Given the description of an element on the screen output the (x, y) to click on. 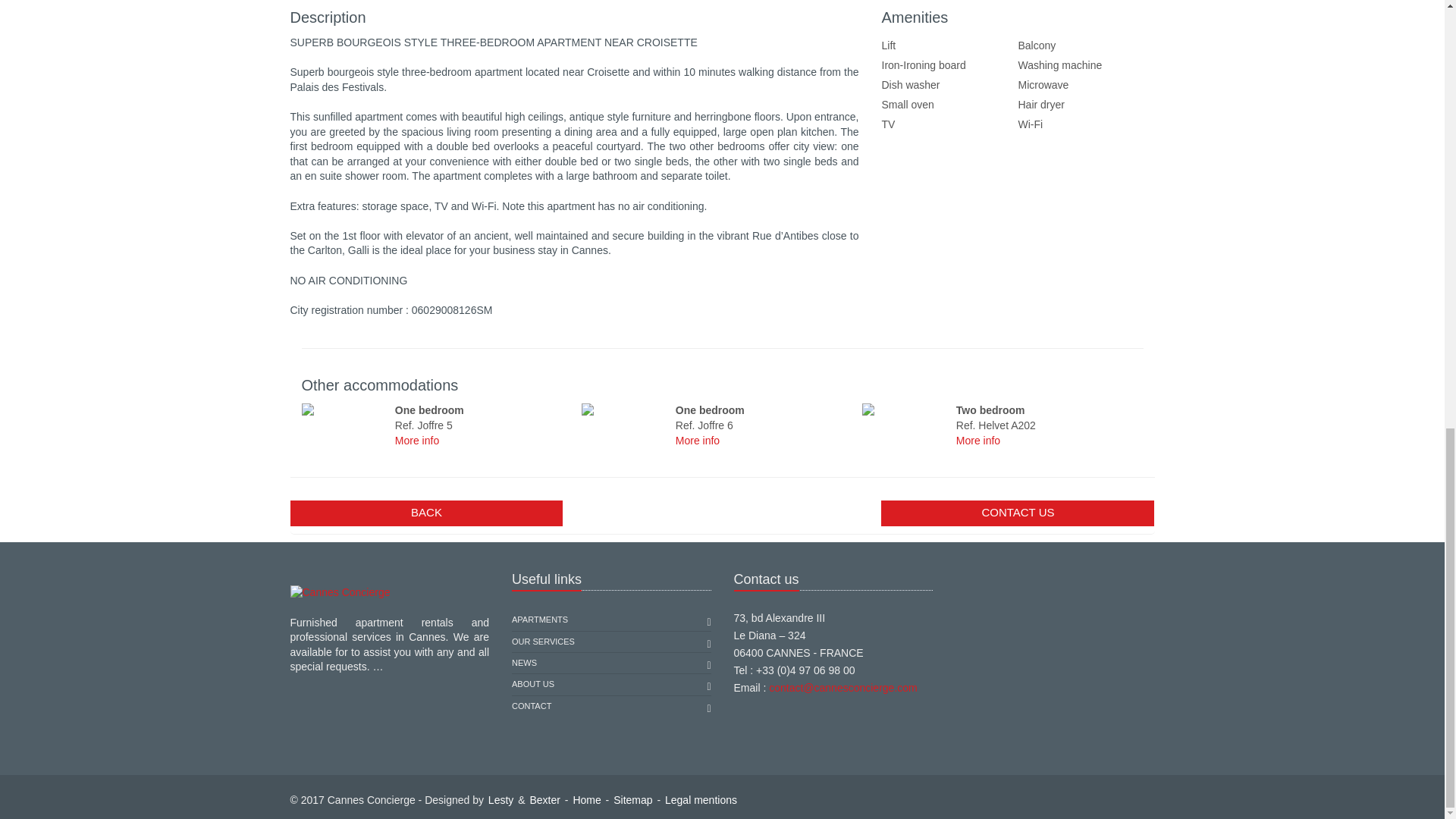
CONTACT (531, 706)
One bedroom CANNES (345, 409)
More info : One bedroom - CANNES (697, 440)
NEWS (524, 662)
More info (697, 440)
APARTMENTS (539, 619)
OUR SERVICES (543, 640)
BACK (425, 513)
More info (978, 440)
CONTACT US (1017, 513)
One bedroom CANNES (624, 409)
Two bedroom CANNES (905, 409)
ABOUT US (533, 684)
More info (416, 440)
More info : One bedroom - CANNES (416, 440)
